Given the description of an element on the screen output the (x, y) to click on. 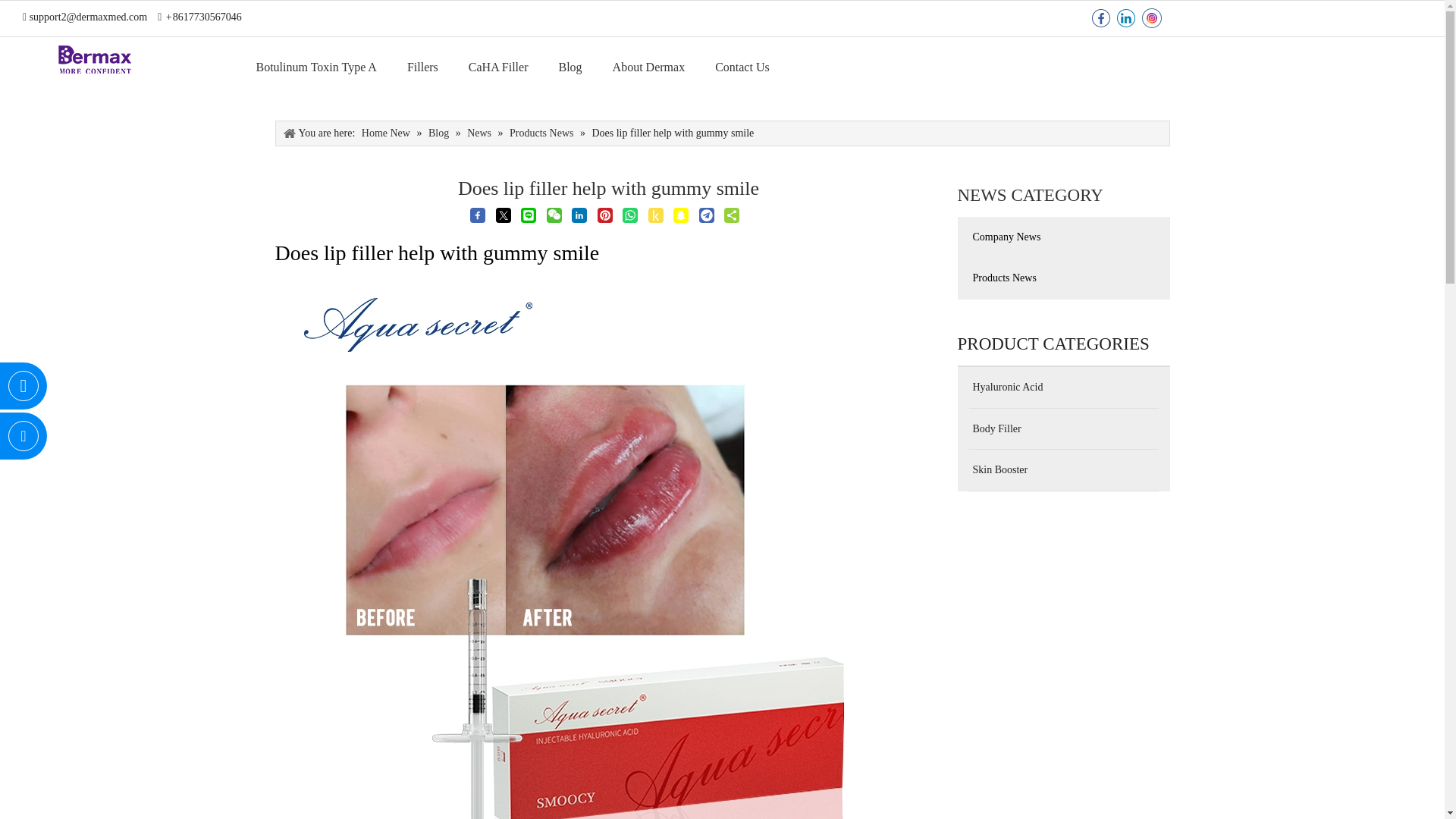
Linkedin (1125, 18)
Company News (1062, 237)
Products News (1062, 277)
8617730567046 (207, 16)
Dermax (94, 60)
Instagram (1151, 18)
Botulinum Toxin Type A (316, 67)
Skin Booster (1062, 469)
Body Filler (1062, 428)
Facebook (1099, 18)
